Given the description of an element on the screen output the (x, y) to click on. 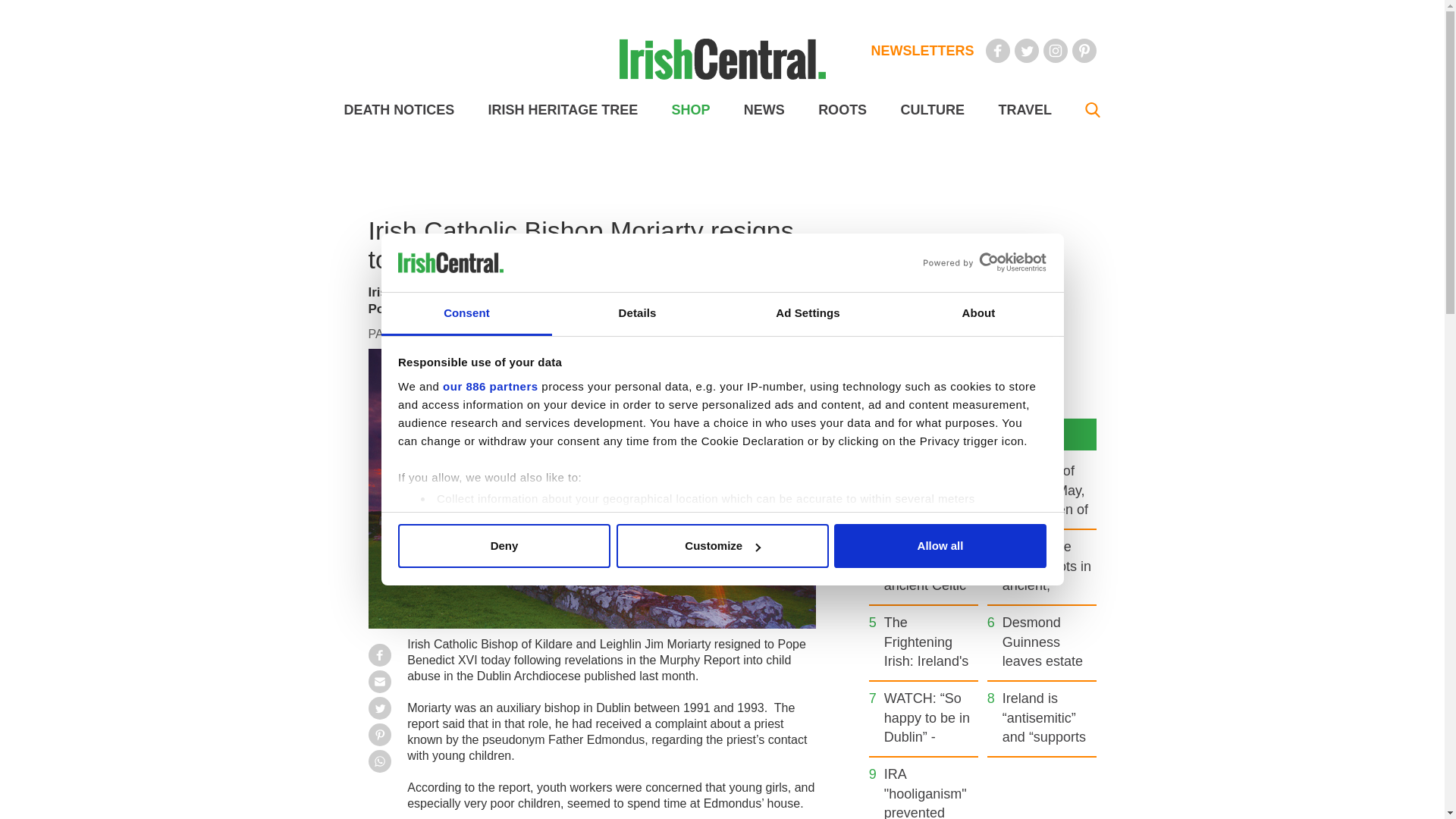
details section (927, 536)
Consent (465, 313)
Ad Settings (807, 313)
About (978, 313)
Details (636, 313)
our 886 partners (490, 386)
